Given the description of an element on the screen output the (x, y) to click on. 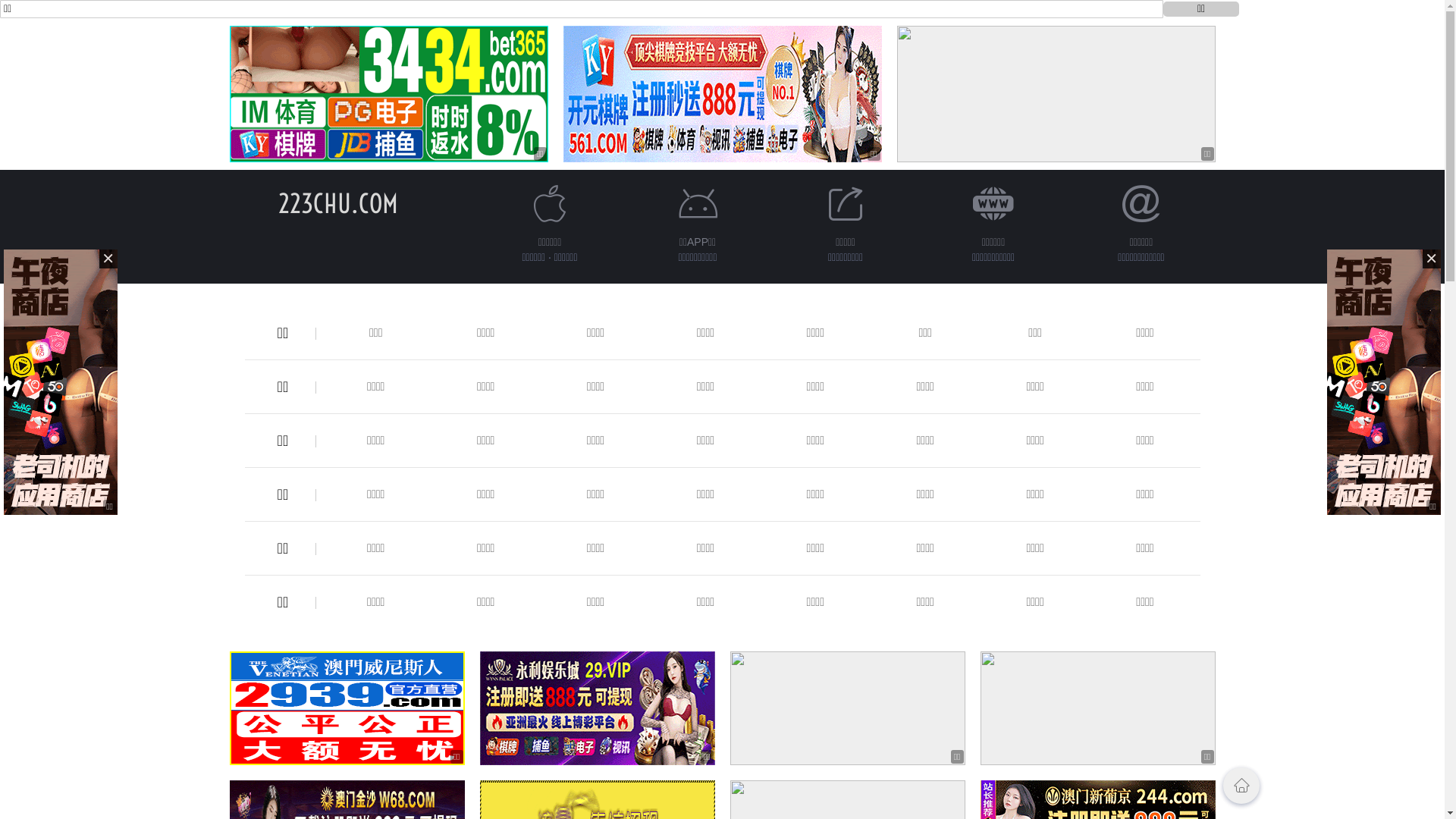
223CHU.COM Element type: text (337, 203)
